Given the description of an element on the screen output the (x, y) to click on. 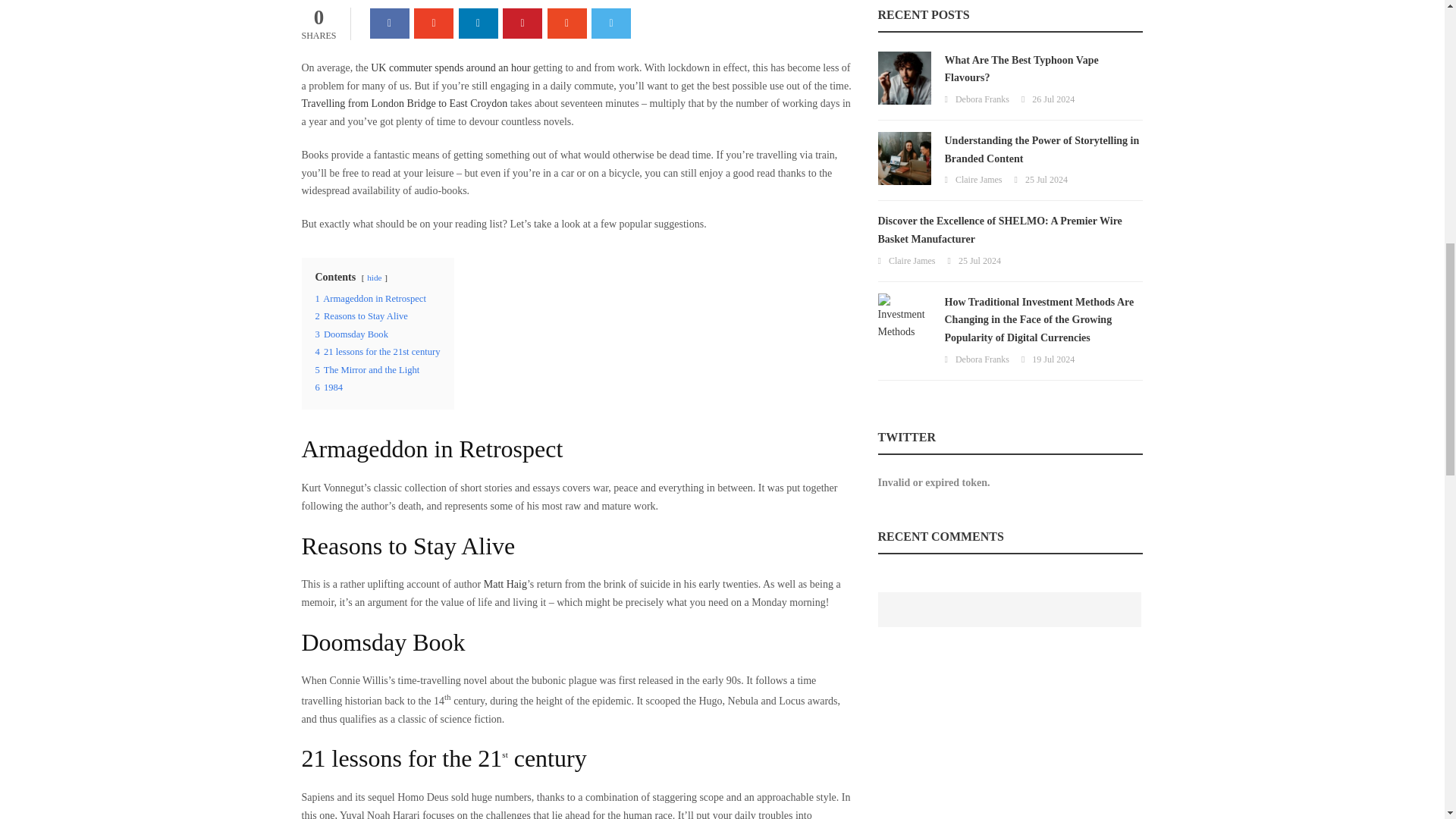
Posts by Claire James (979, 179)
Posts by Debora Franks (982, 99)
Posts by Debora Franks (982, 358)
Posts by Claire James (912, 260)
